Given the description of an element on the screen output the (x, y) to click on. 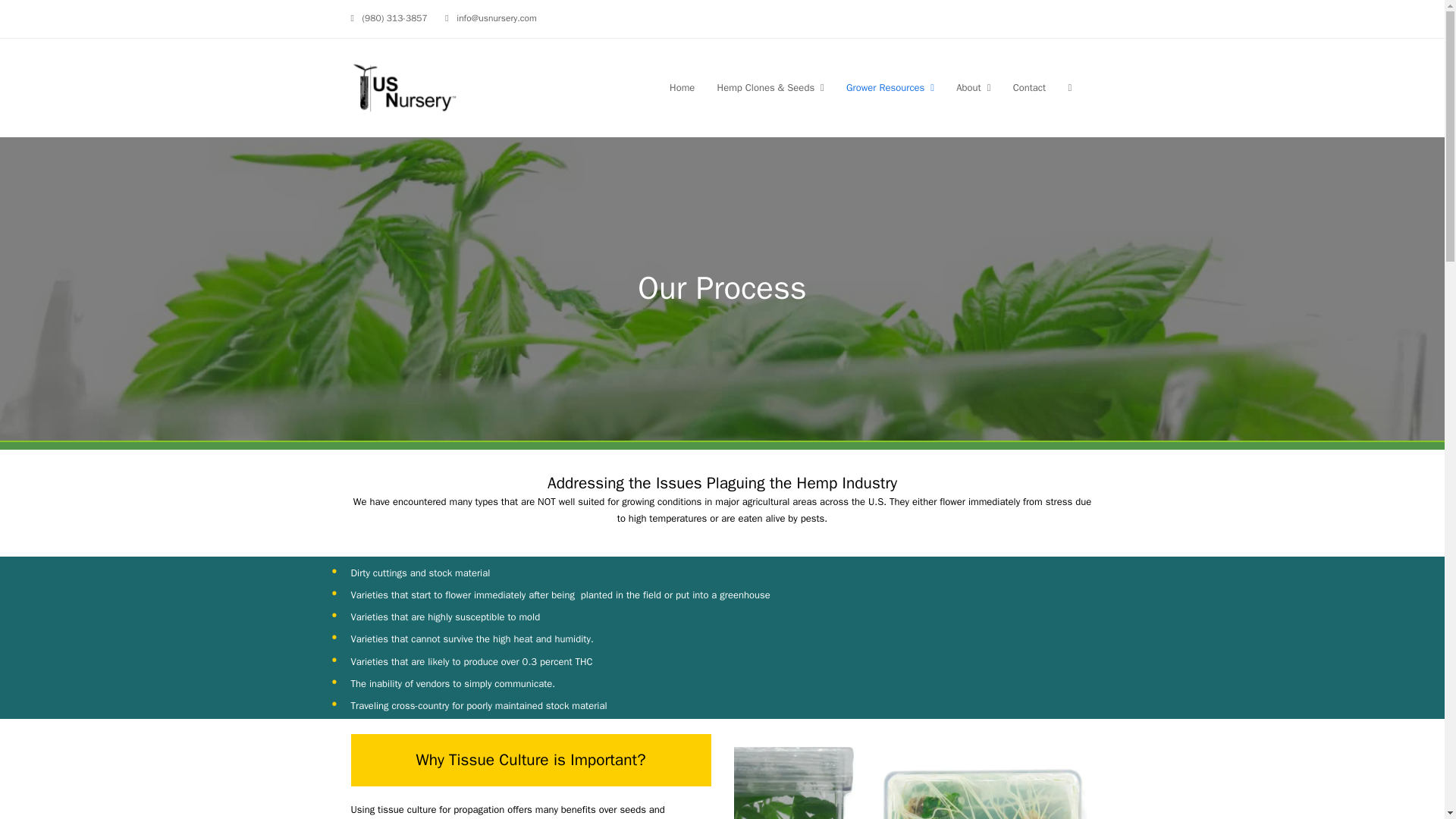
About (973, 86)
Grower Resources (889, 86)
